Given the description of an element on the screen output the (x, y) to click on. 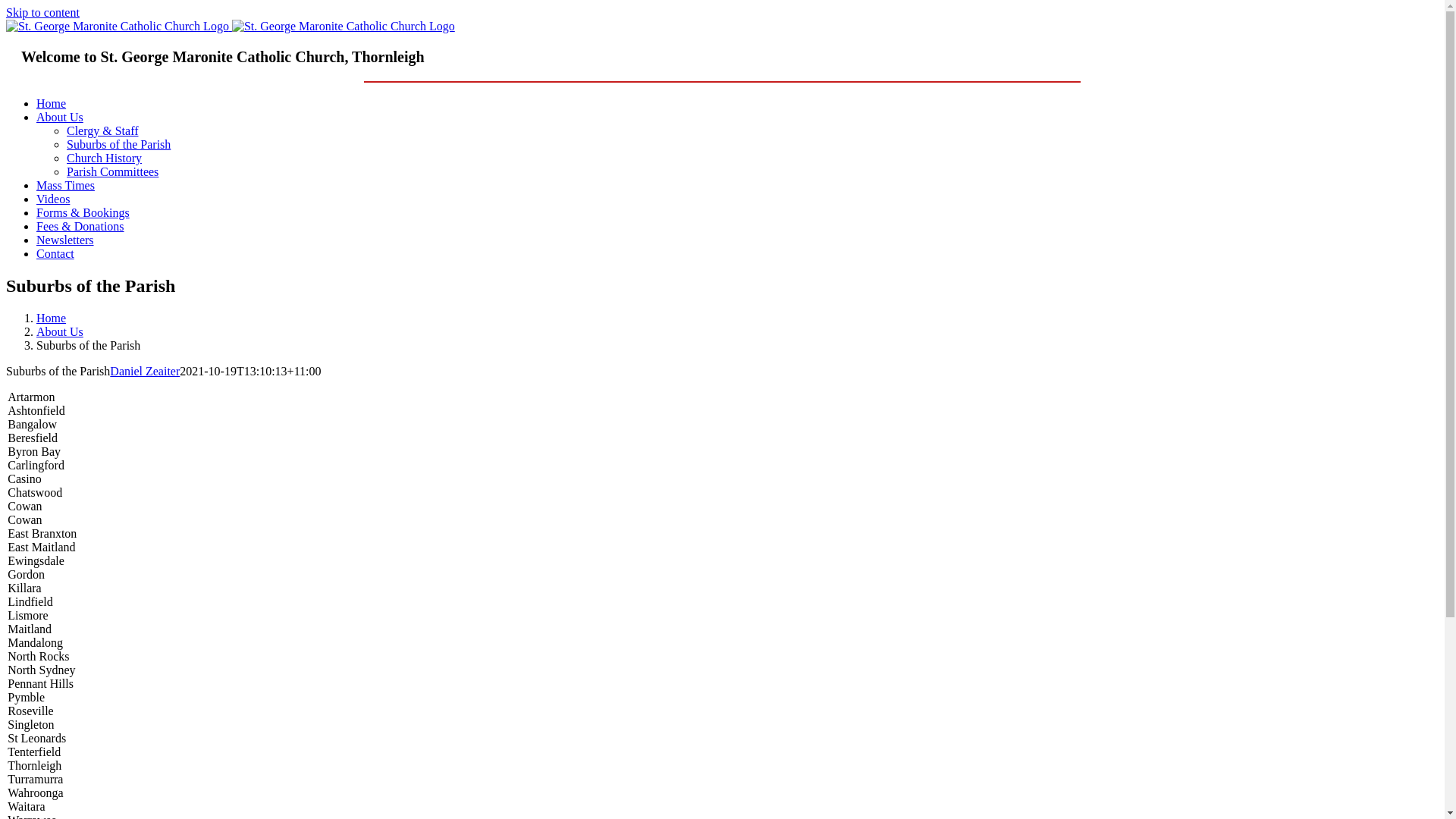
Church History Element type: text (103, 157)
Suburbs of the Parish Element type: text (118, 144)
About Us Element type: text (59, 331)
About Us Element type: text (59, 116)
Contact Element type: text (55, 253)
Mass Times Element type: text (65, 184)
Newsletters Element type: text (65, 239)
Home Element type: text (50, 317)
Clergy & Staff Element type: text (102, 130)
Parish Committees Element type: text (112, 171)
Home Element type: text (50, 103)
Daniel Zeaiter Element type: text (144, 370)
Fees & Donations Element type: text (80, 225)
Forms & Bookings Element type: text (82, 212)
Skip to content Element type: text (42, 12)
Videos Element type: text (52, 198)
